Given the description of an element on the screen output the (x, y) to click on. 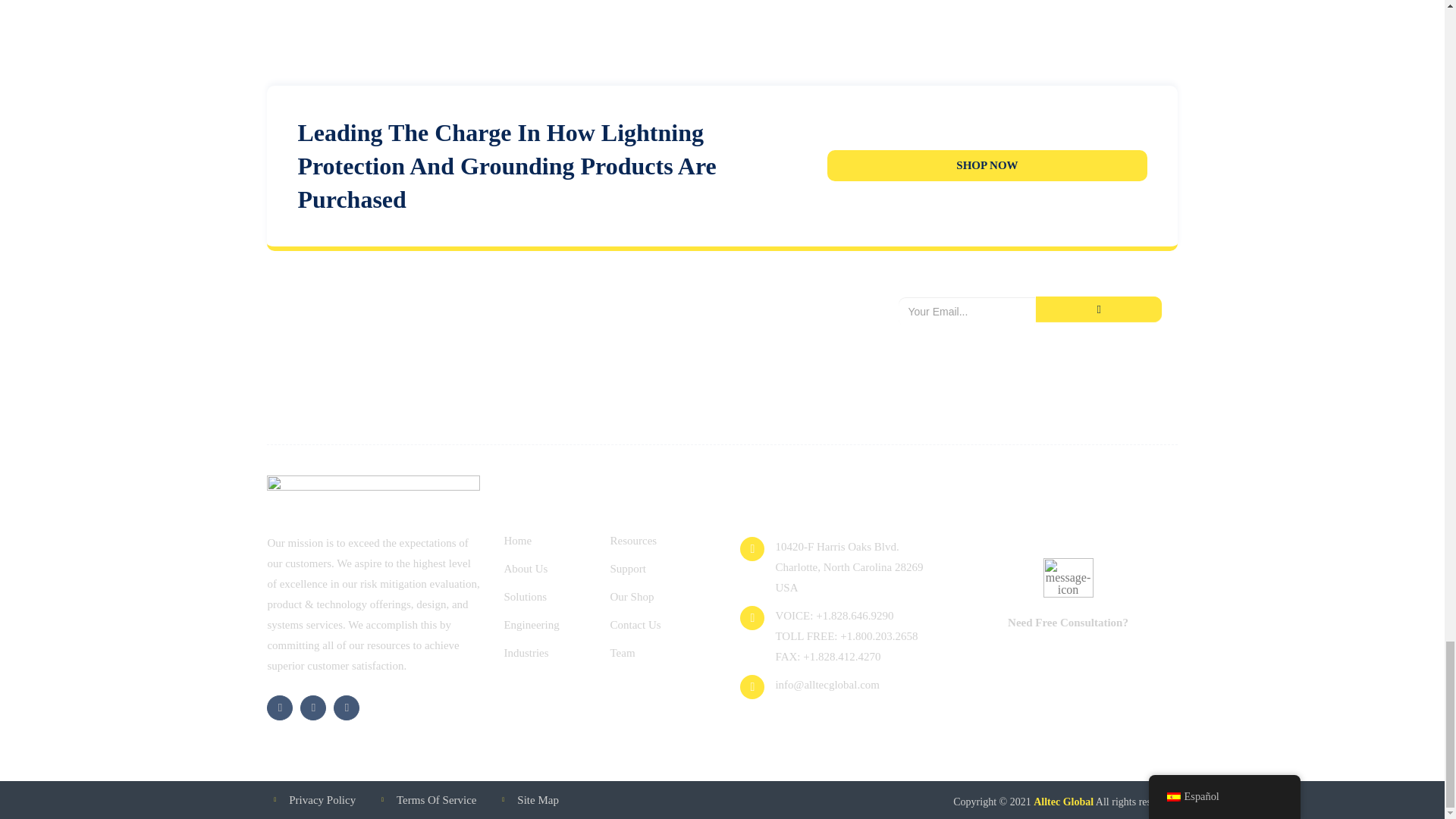
Facebook (279, 707)
YouTube (346, 707)
LinkedIn (312, 707)
